Given the description of an element on the screen output the (x, y) to click on. 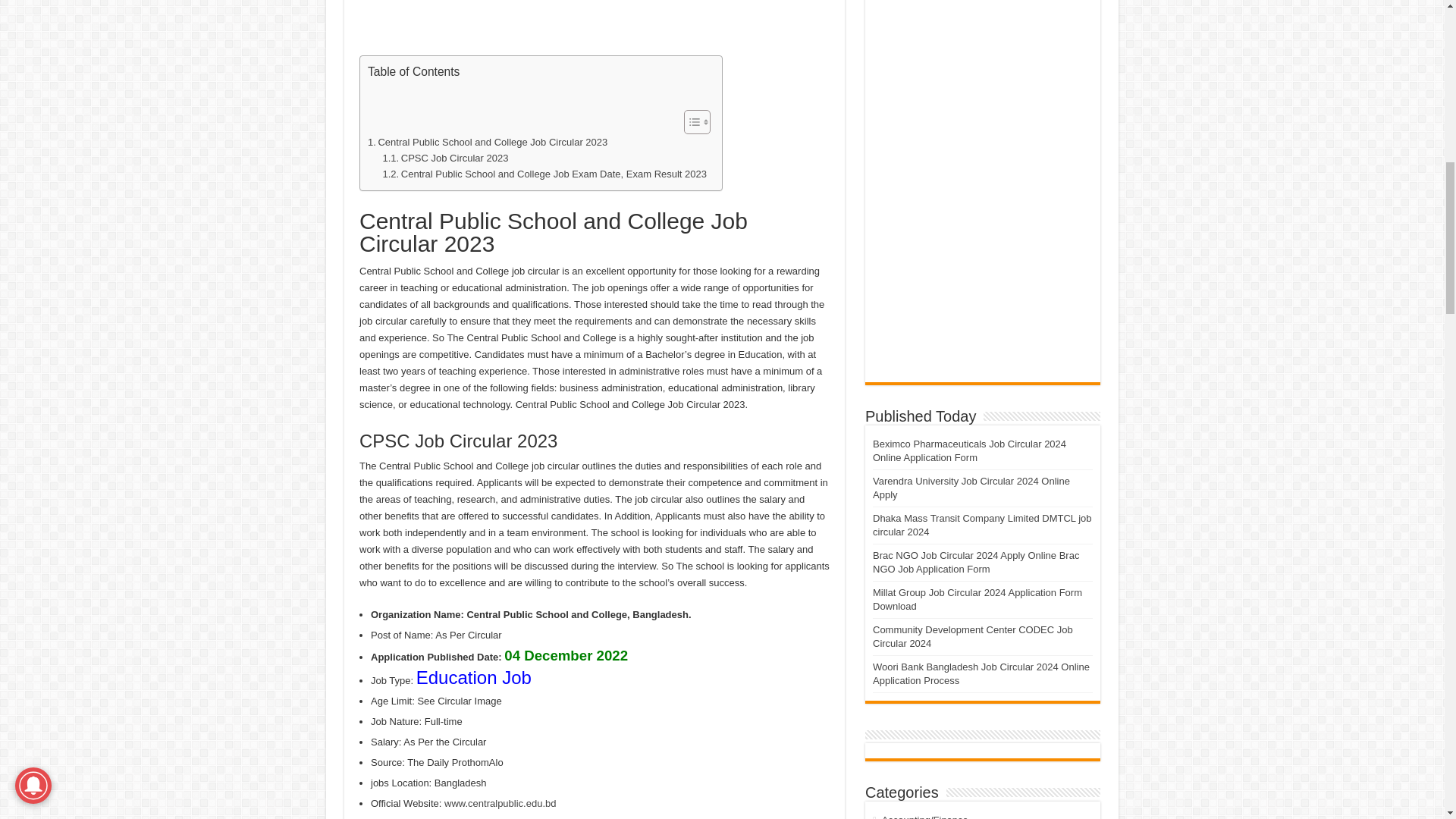
CPSC Job Circular 2023 (444, 158)
Central Public School and College Job Circular 2023 (487, 142)
